Given the description of an element on the screen output the (x, y) to click on. 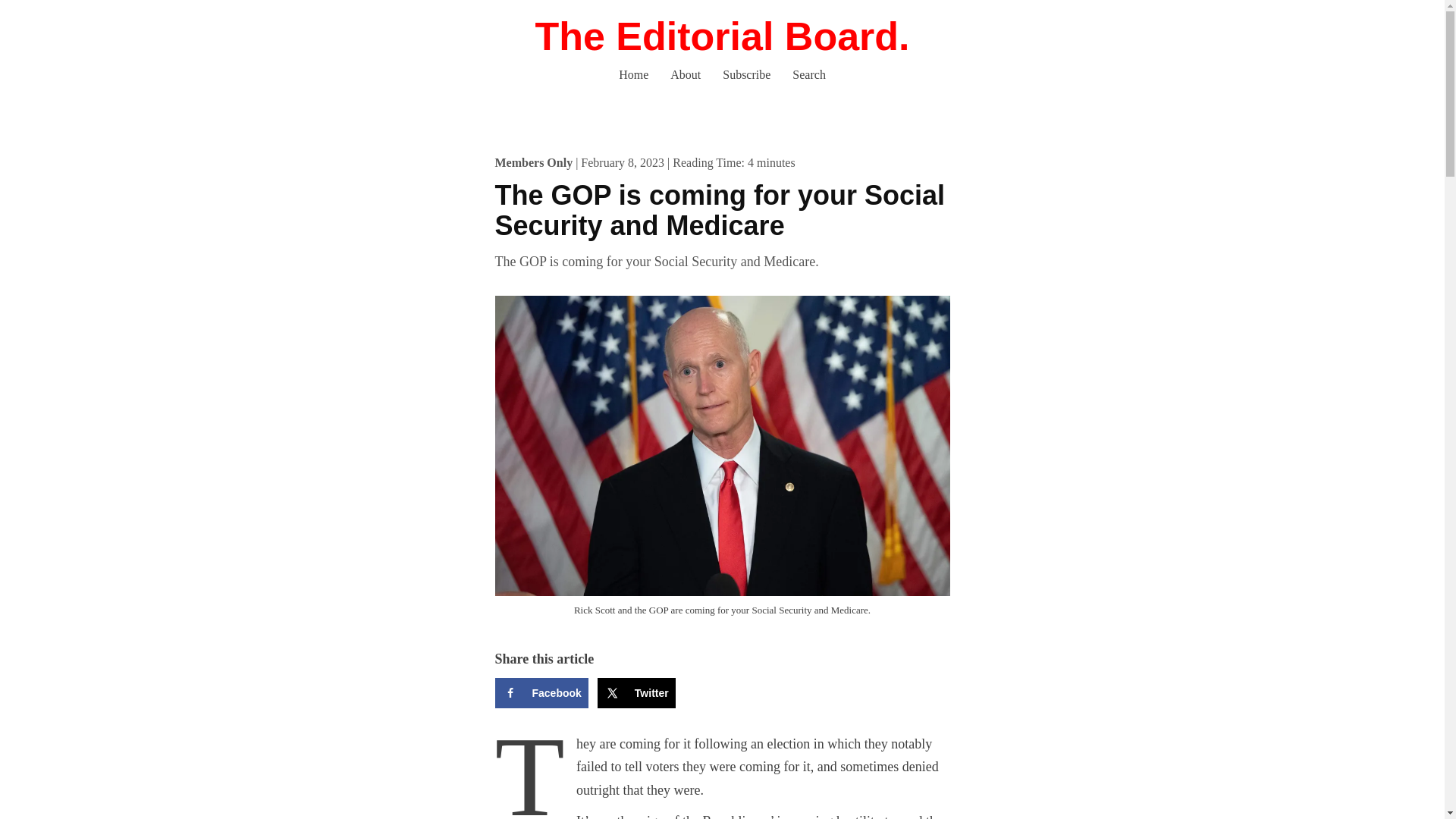
Home (633, 74)
Search (808, 74)
Share on Facebook (541, 693)
About (685, 74)
The Editorial Board. (721, 36)
Facebook (541, 693)
The Editorial Board. (721, 36)
Subscribe (745, 74)
Share on X (635, 693)
